Given the description of an element on the screen output the (x, y) to click on. 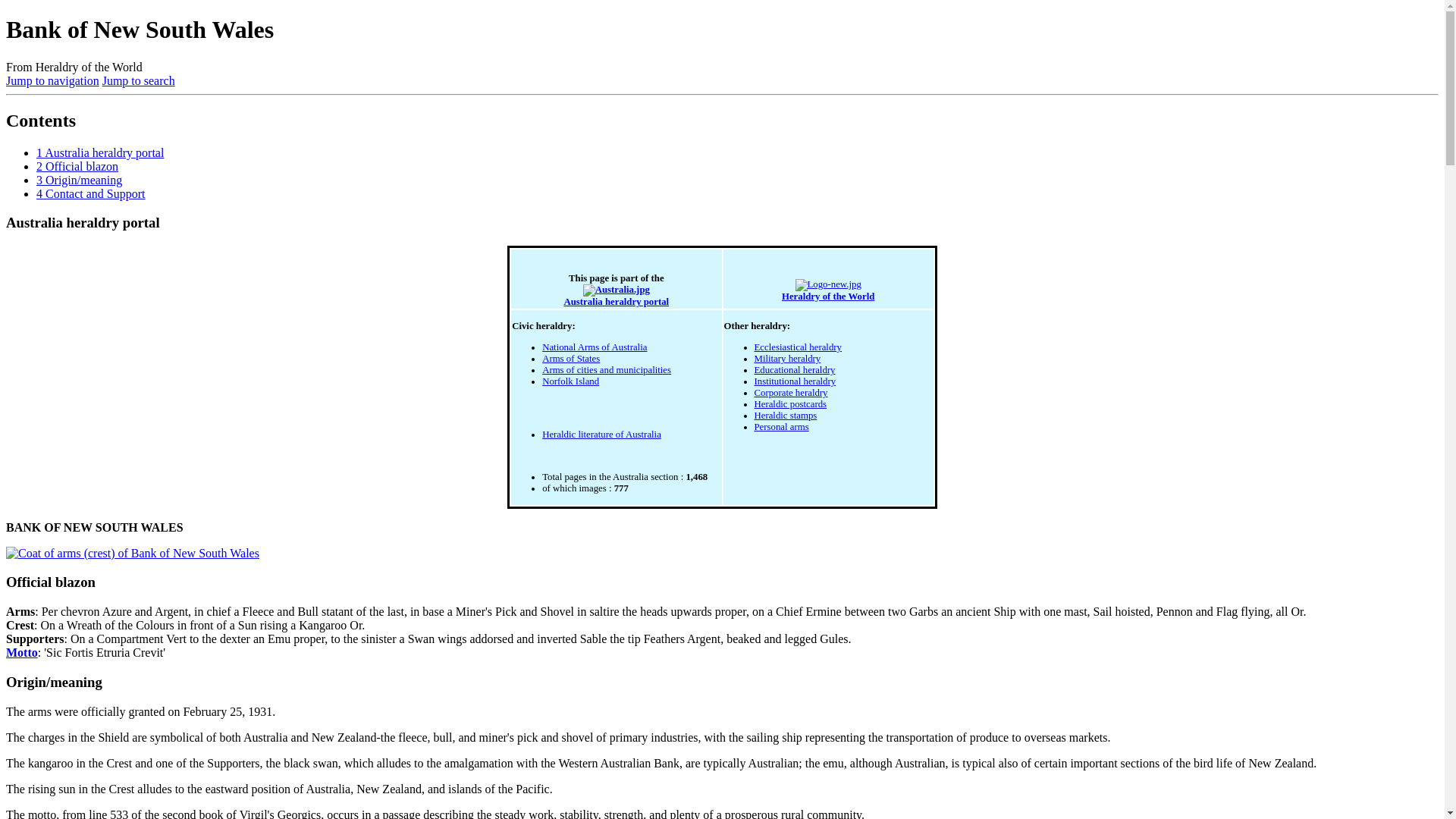
Jump to search (137, 80)
Category:Personal arms Australia (781, 426)
Category:Australian municipalities (606, 369)
Category:Australian States and territories (570, 357)
Ecclesiastical heraldry (797, 347)
Norfolk Island (569, 380)
Norfolk Island (569, 380)
Personal arms (781, 426)
Category:Corporate heraldry of Australia (790, 392)
2 Official blazon (76, 165)
